Given the description of an element on the screen output the (x, y) to click on. 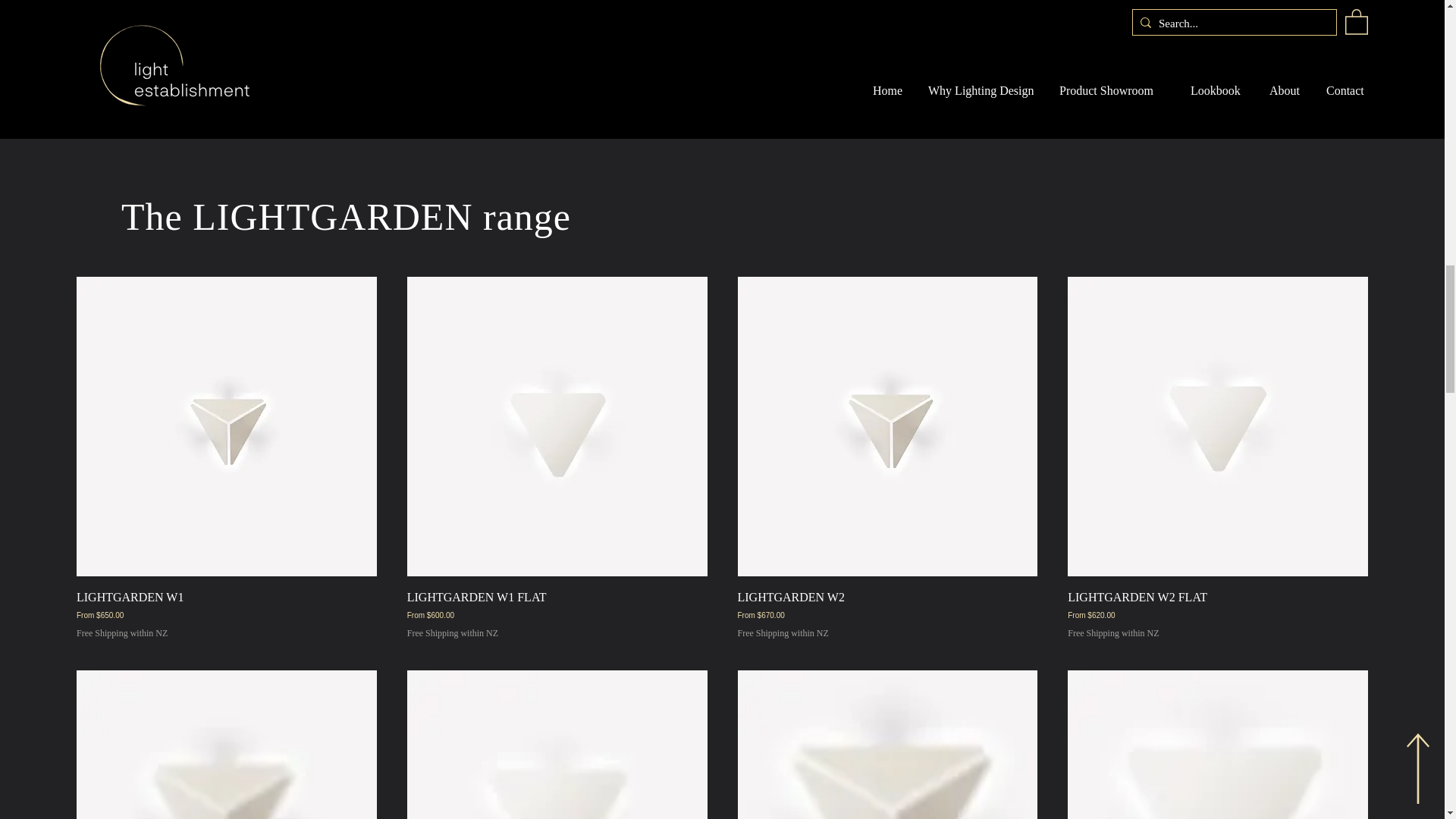
Free Shipping within NZ (122, 633)
Free Shipping within NZ (1112, 633)
Free Shipping within NZ (452, 633)
Free Shipping within NZ (782, 633)
